Given the description of an element on the screen output the (x, y) to click on. 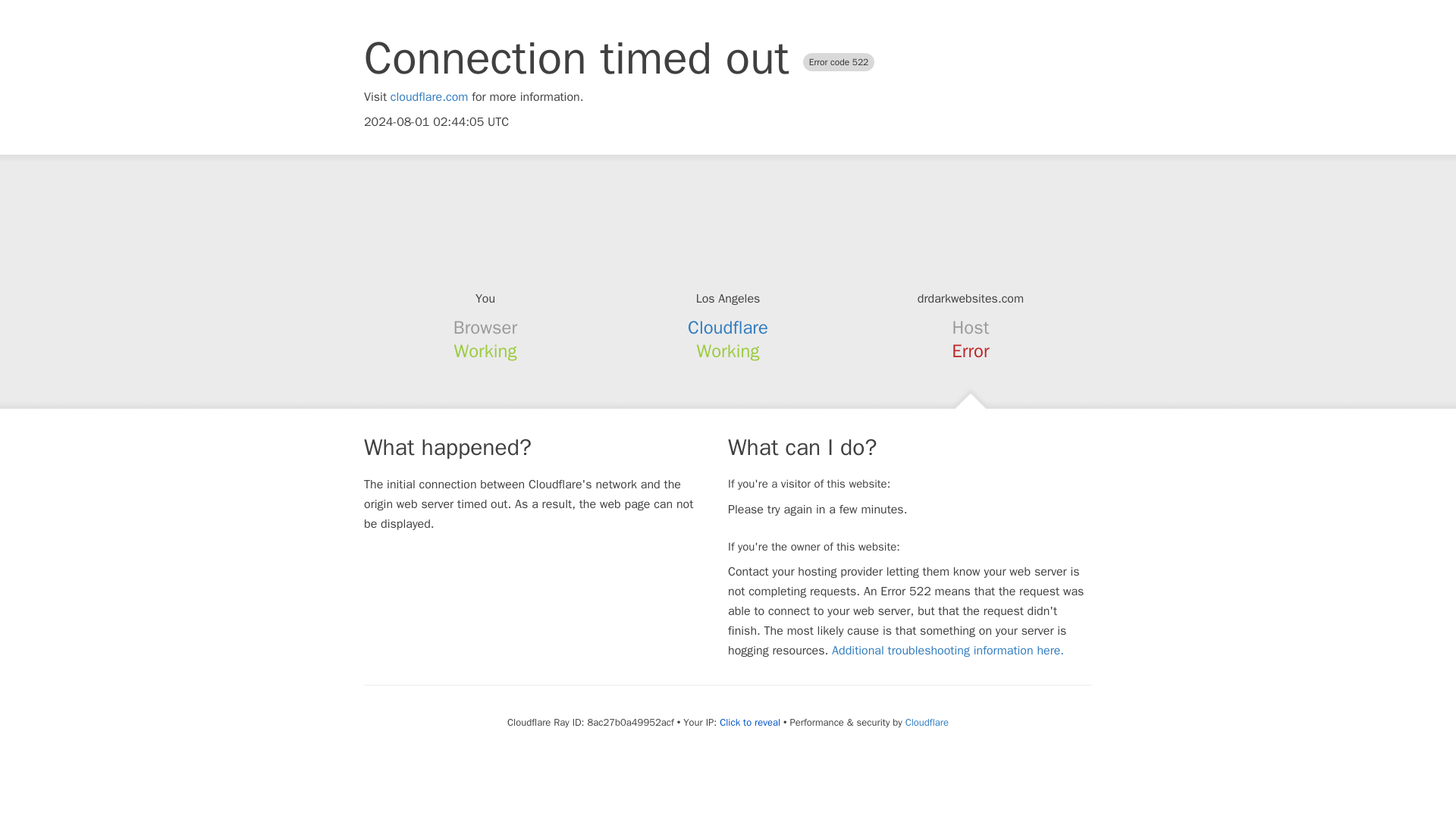
Cloudflare (727, 327)
Cloudflare (927, 721)
cloudflare.com (429, 96)
Additional troubleshooting information here. (947, 650)
Click to reveal (749, 722)
